Given the description of an element on the screen output the (x, y) to click on. 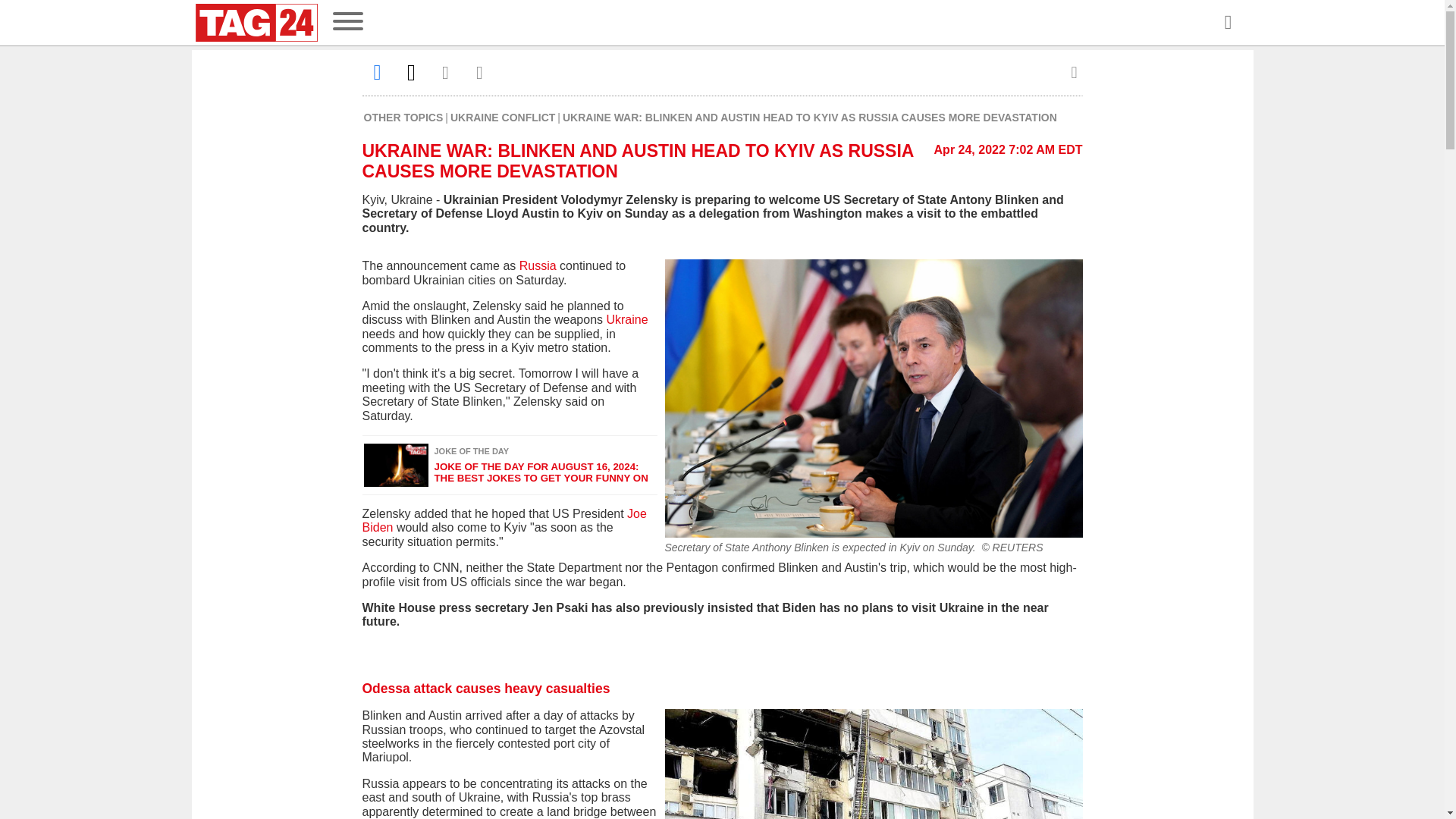
Copy link (479, 72)
Share via mail (445, 72)
Open search (1227, 22)
Russia (537, 265)
UKRAINE CONFLICT (501, 117)
menu (347, 22)
Share on Twitter (411, 72)
Ukraine (626, 318)
Joe Biden (504, 519)
